Given the description of an element on the screen output the (x, y) to click on. 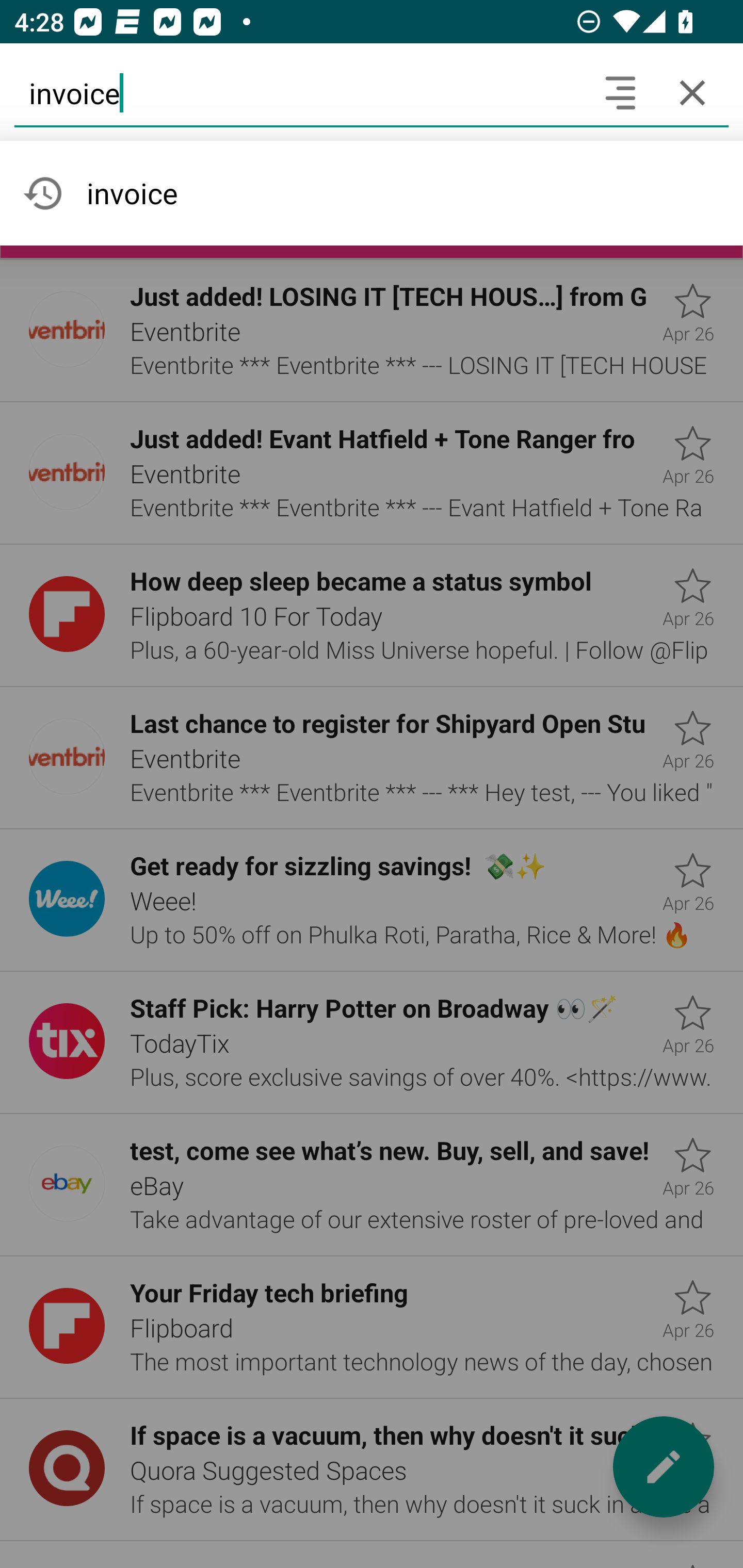
invoice (298, 92)
Search headers and text (619, 92)
Cancel (692, 92)
